Given the description of an element on the screen output the (x, y) to click on. 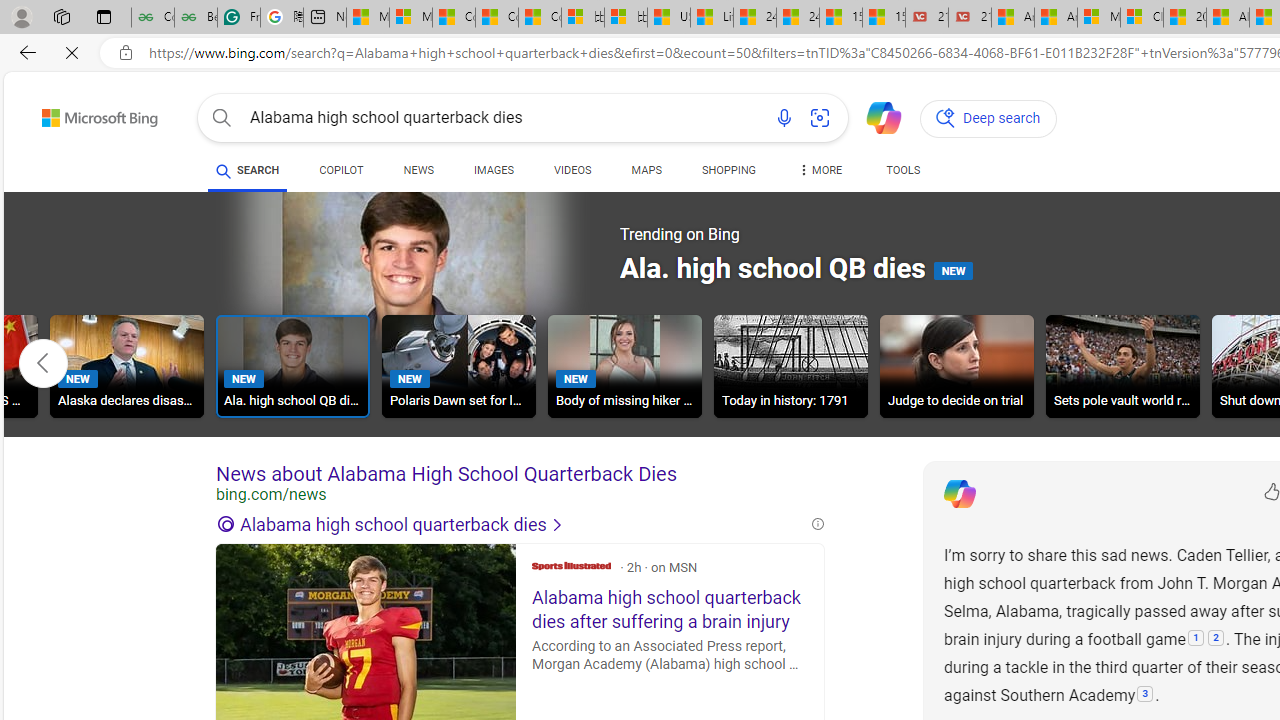
2:  (1216, 639)
1:  (1196, 639)
Complete Guide to Arrays Data Structure - GeeksforGeeks (152, 17)
Cloud Computing Services | Microsoft Azure (1142, 17)
15 Ways Modern Life Contradicts the Teachings of Jesus (883, 17)
